Given the description of an element on the screen output the (x, y) to click on. 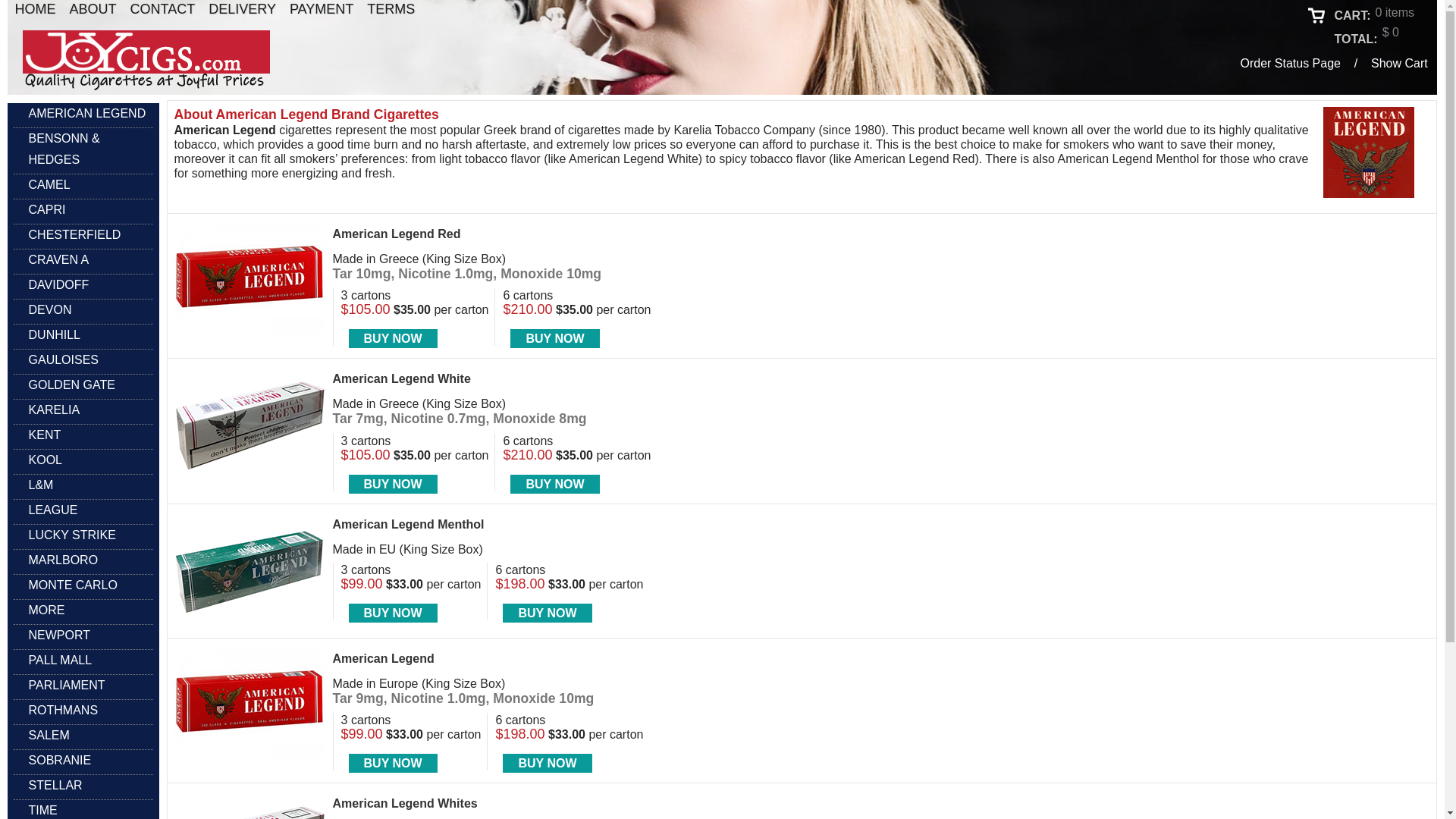
DELIVERY (242, 9)
Order Status Page (1290, 62)
Marlboro Cigarettes Cheap (56, 559)
CRAVEN A (50, 260)
CAMEL (41, 184)
STELLAR (47, 785)
NEWPORT (51, 635)
Craven A Cigarettes Online (50, 260)
Kool Cigarettes Buy (37, 459)
Lucky Strike Cigarettes Online (64, 535)
